Given the description of an element on the screen output the (x, y) to click on. 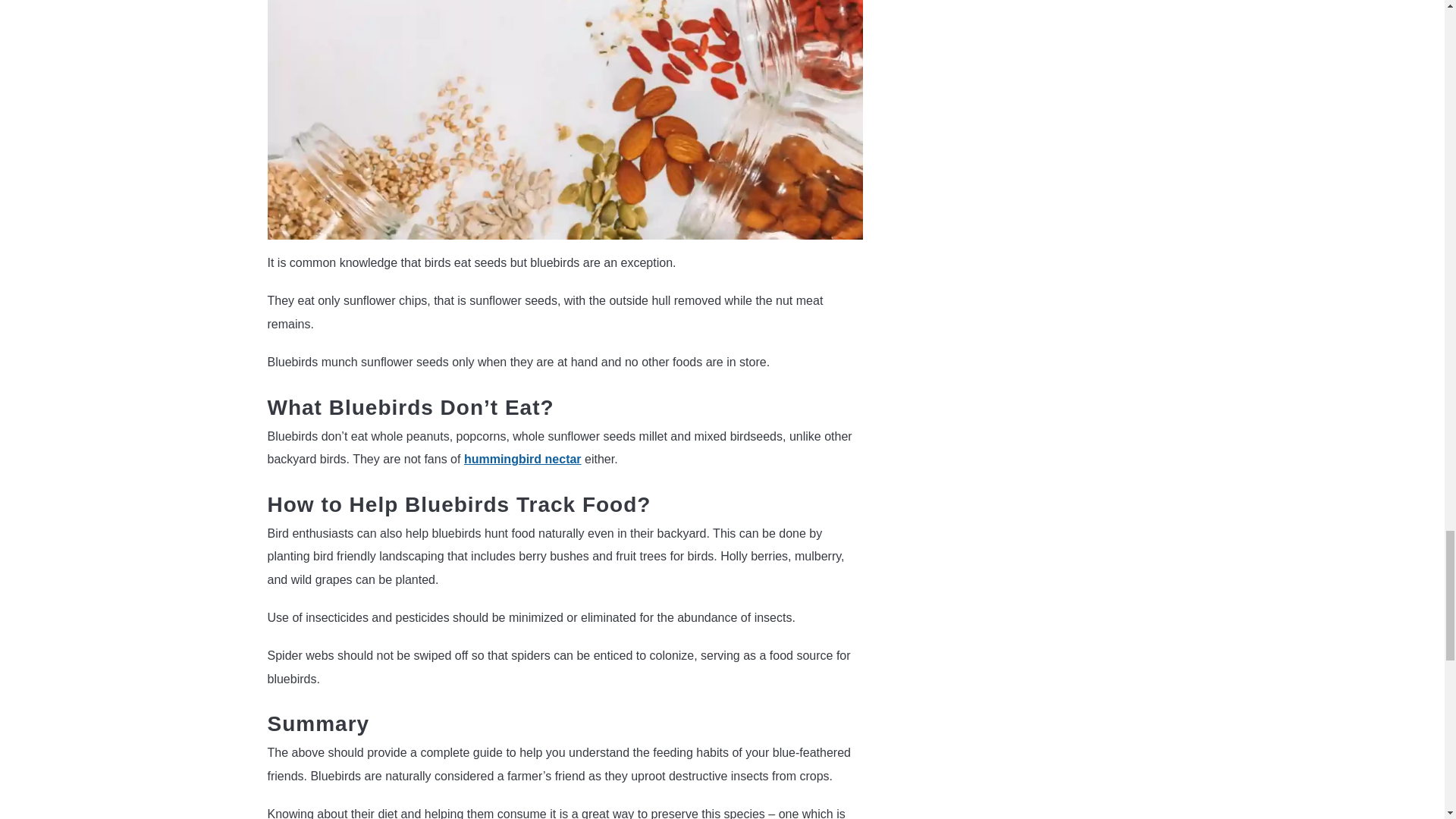
hummingbird nectar (522, 459)
